Given the description of an element on the screen output the (x, y) to click on. 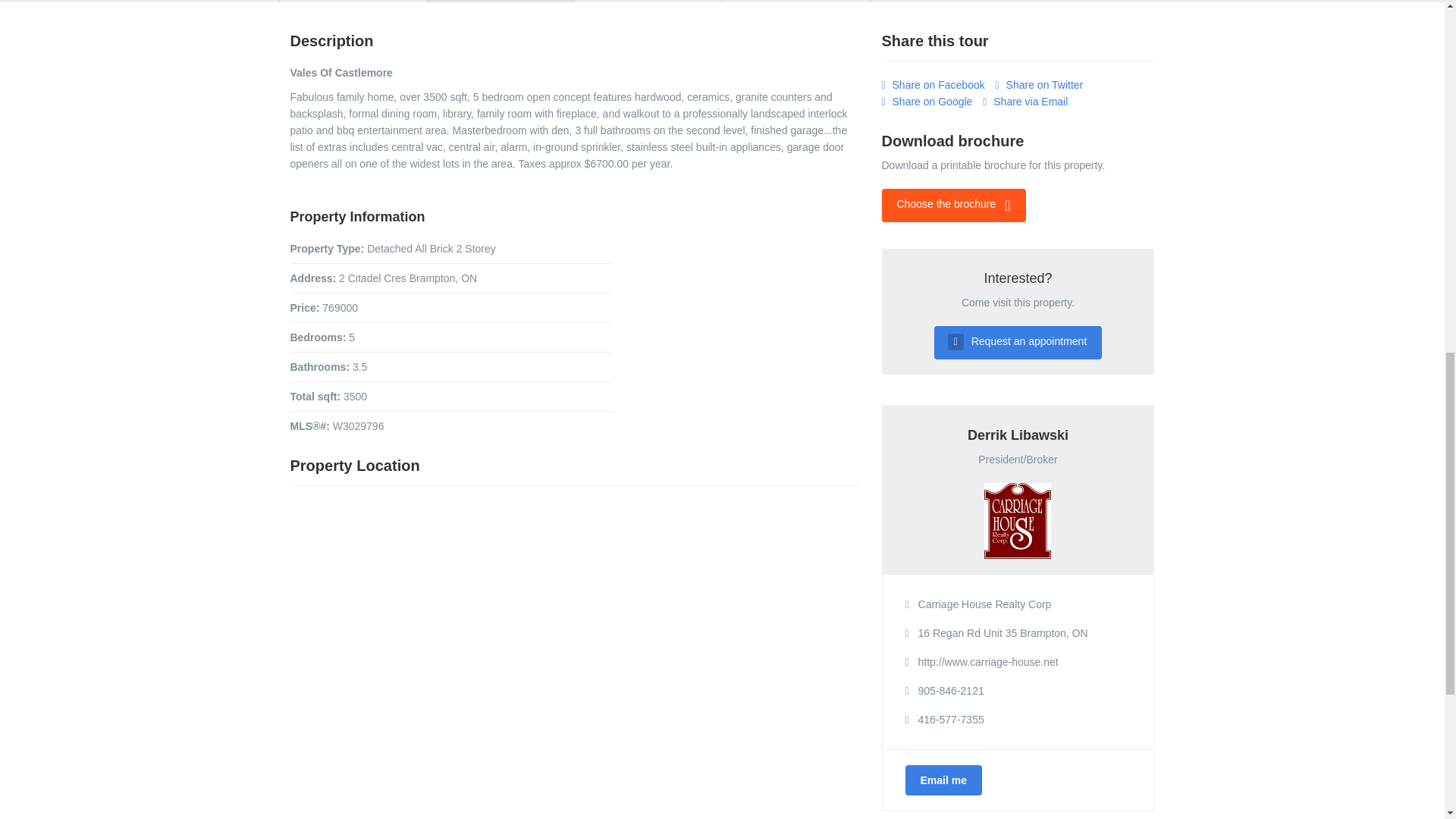
More details (795, 1)
More details (795, 1)
Share on Google (926, 101)
Home (352, 1)
Panoramas (648, 1)
Email me (943, 779)
Request an appointment (1018, 342)
Share on Twitter (1039, 84)
Share via Email (1024, 101)
Photos (499, 1)
